Given the description of an element on the screen output the (x, y) to click on. 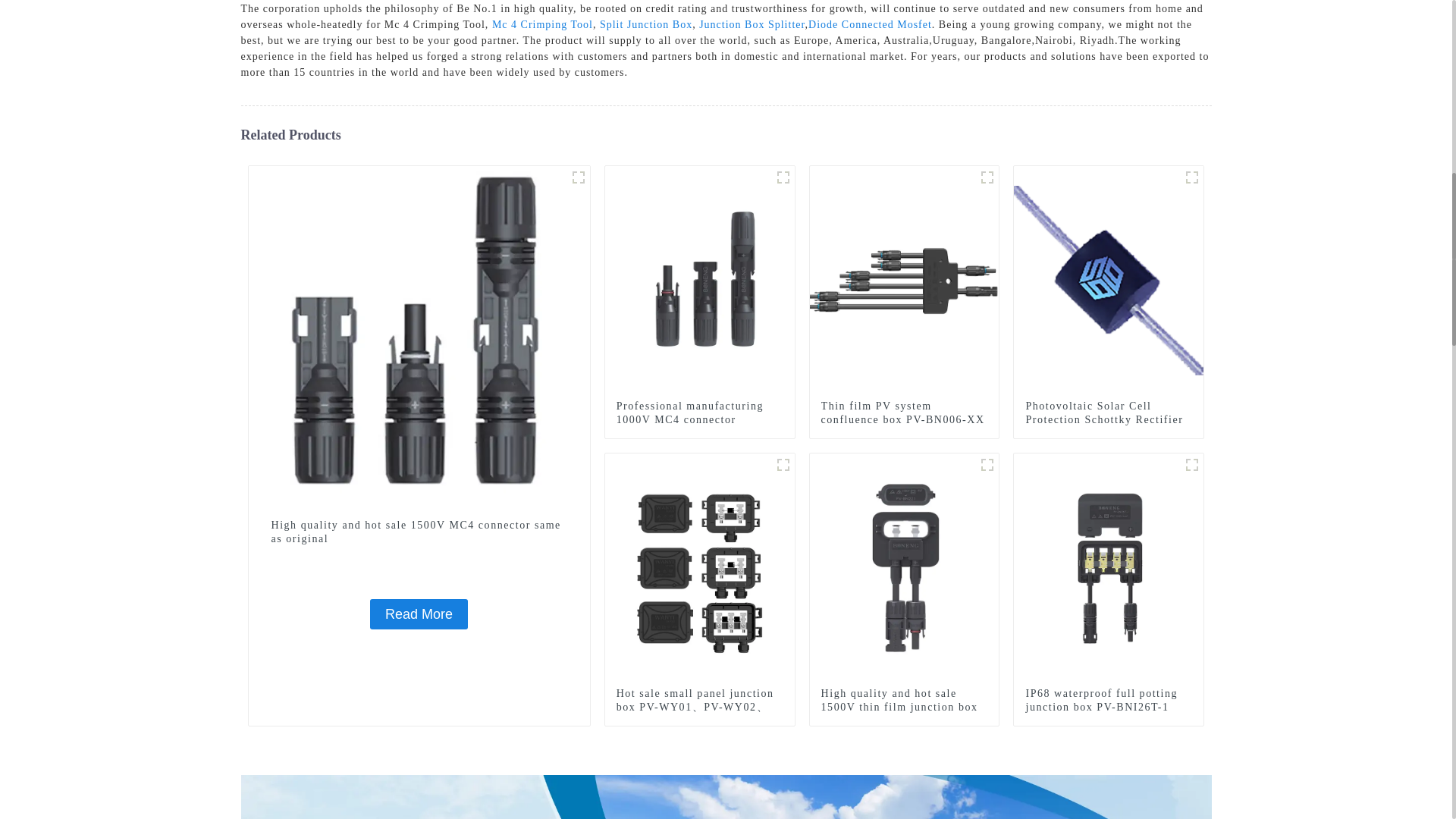
Junction Box Splitter (751, 24)
Photovoltaic Solar Cell Protection Schottky Rectifier R-6 (1108, 419)
Professional manufacturing 1000V MC4 connector  (699, 279)
Diode Connected Mosfet (869, 24)
Photovoltaic Solar Cell Protection Schottky Rectifier  R-6 (1108, 279)
Photovoltaic Solar Cell Protection Schottky Rectifier  R-6 (1108, 419)
Thin film PV system confluence box PV-BN006-XX (903, 279)
